Given the description of an element on the screen output the (x, y) to click on. 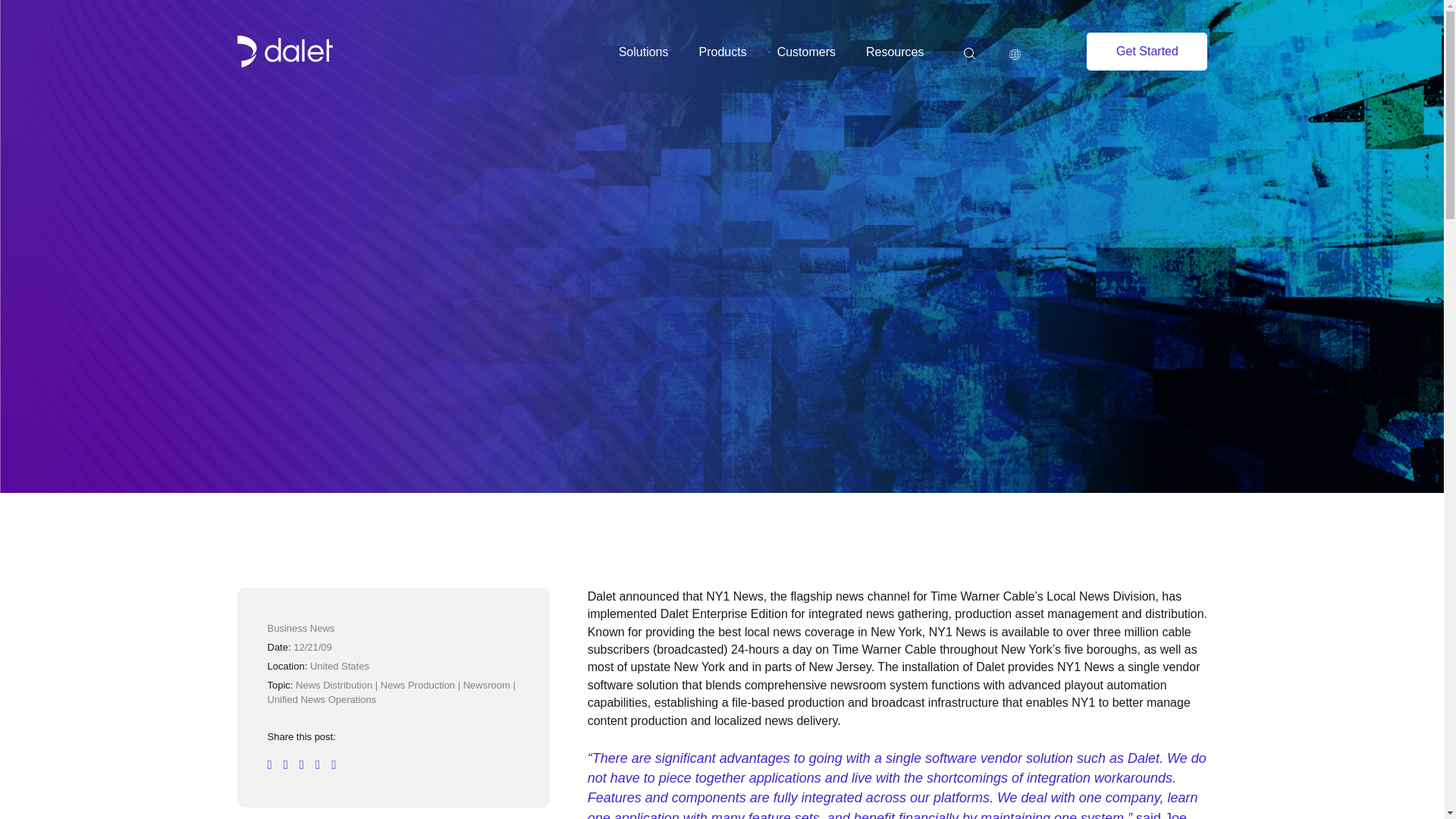
Products (722, 51)
Solutions (643, 51)
Customers (806, 51)
Resources (894, 51)
